Given the description of an element on the screen output the (x, y) to click on. 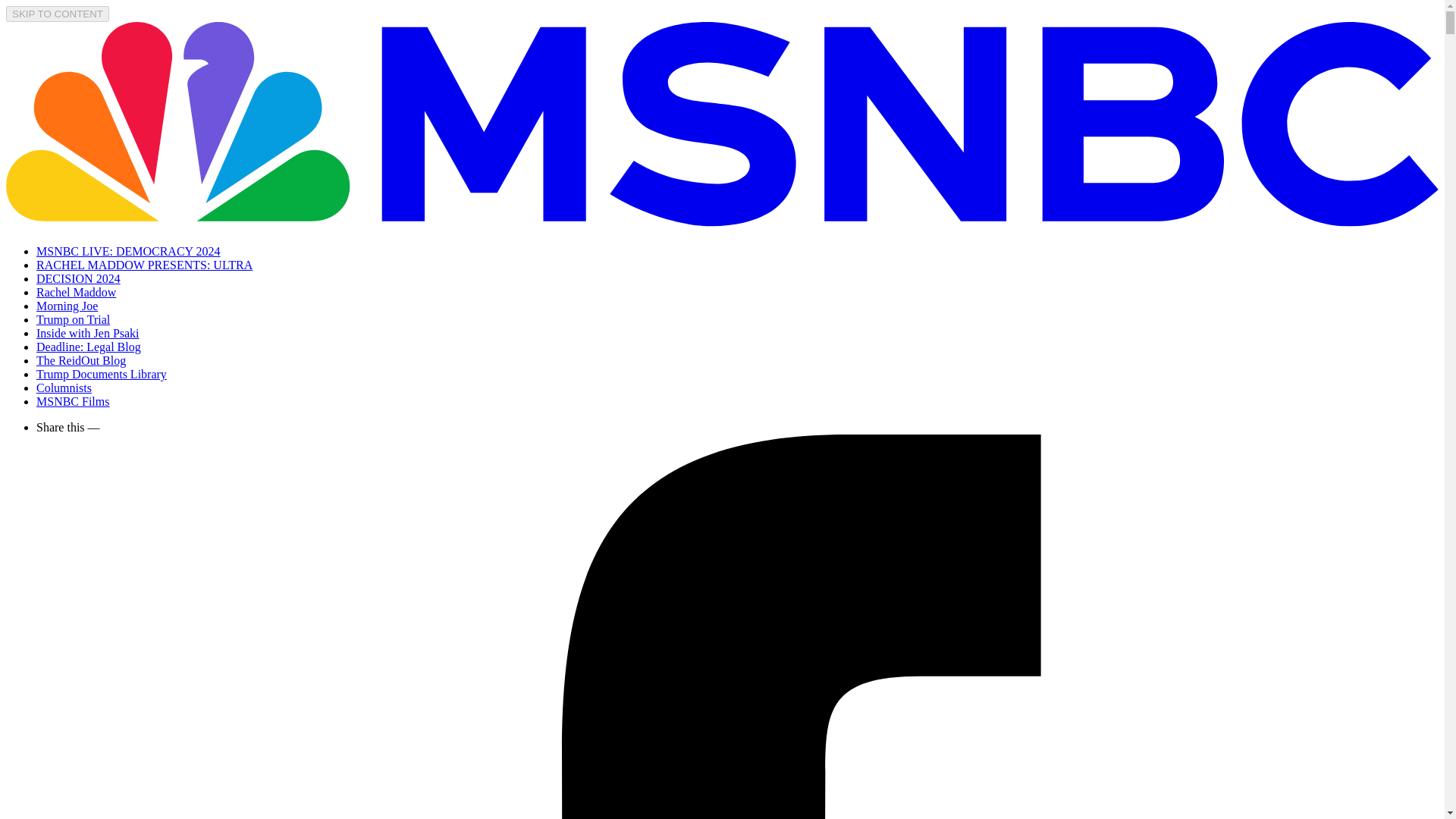
Trump on Trial (73, 318)
Rachel Maddow (76, 291)
Deadline: Legal Blog (88, 346)
The ReidOut Blog (80, 359)
DECISION 2024 (78, 278)
Morning Joe (66, 305)
Trump Documents Library (101, 373)
Inside with Jen Psaki (87, 332)
RACHEL MADDOW PRESENTS: ULTRA (143, 264)
SKIP TO CONTENT (57, 13)
